Given the description of an element on the screen output the (x, y) to click on. 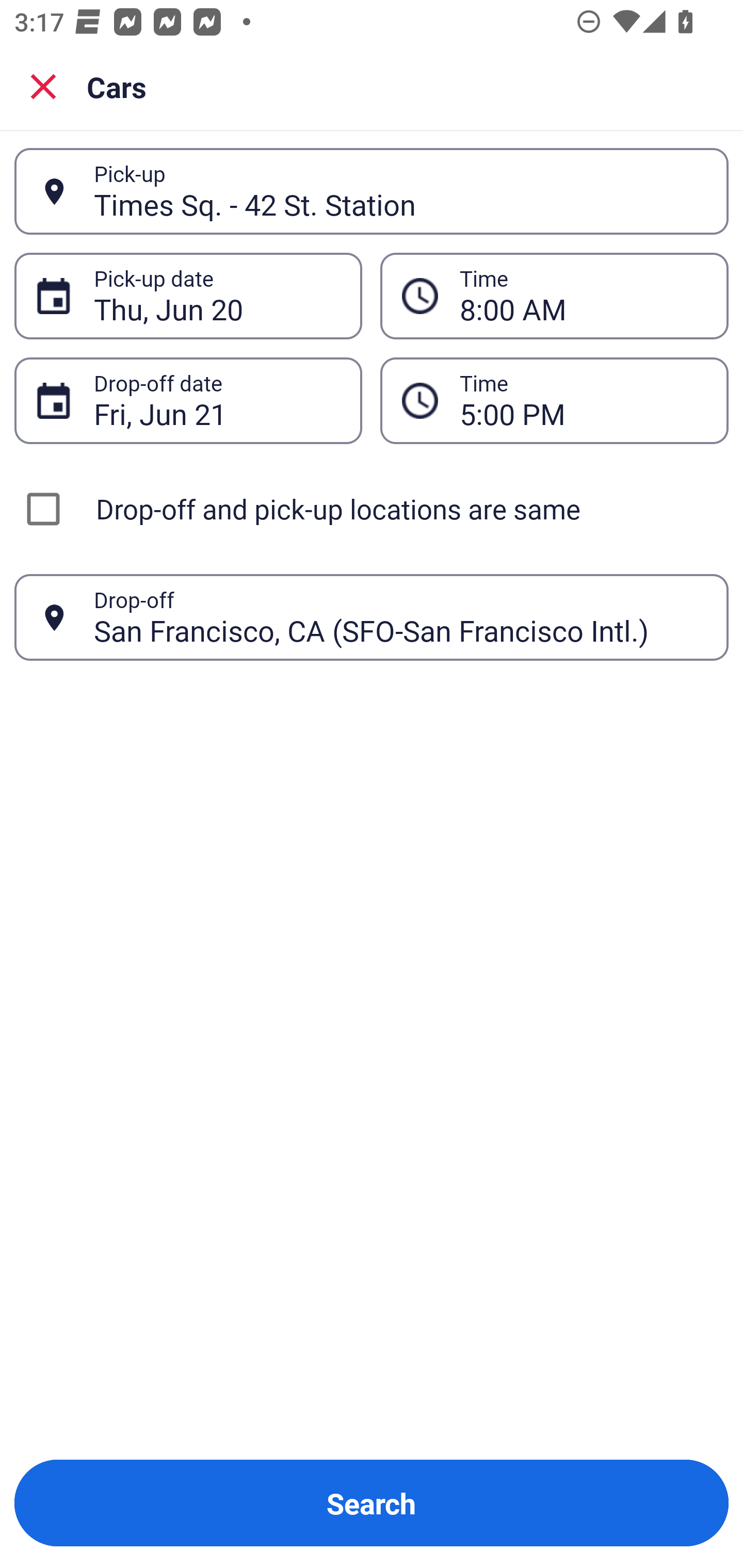
Close search screen (43, 86)
Times Sq. - 42 St. Station Pick-up (371, 191)
Times Sq. - 42 St. Station (399, 191)
Thu, Jun 20 Pick-up date (188, 295)
8:00 AM (554, 295)
Thu, Jun 20 (216, 296)
8:00 AM (582, 296)
Fri, Jun 21 Drop-off date (188, 400)
5:00 PM (554, 400)
Fri, Jun 21 (216, 400)
5:00 PM (582, 400)
Drop-off and pick-up locations are same (371, 508)
San Francisco, CA (SFO-San Francisco Intl.) (399, 616)
Search Button Search (371, 1502)
